Given the description of an element on the screen output the (x, y) to click on. 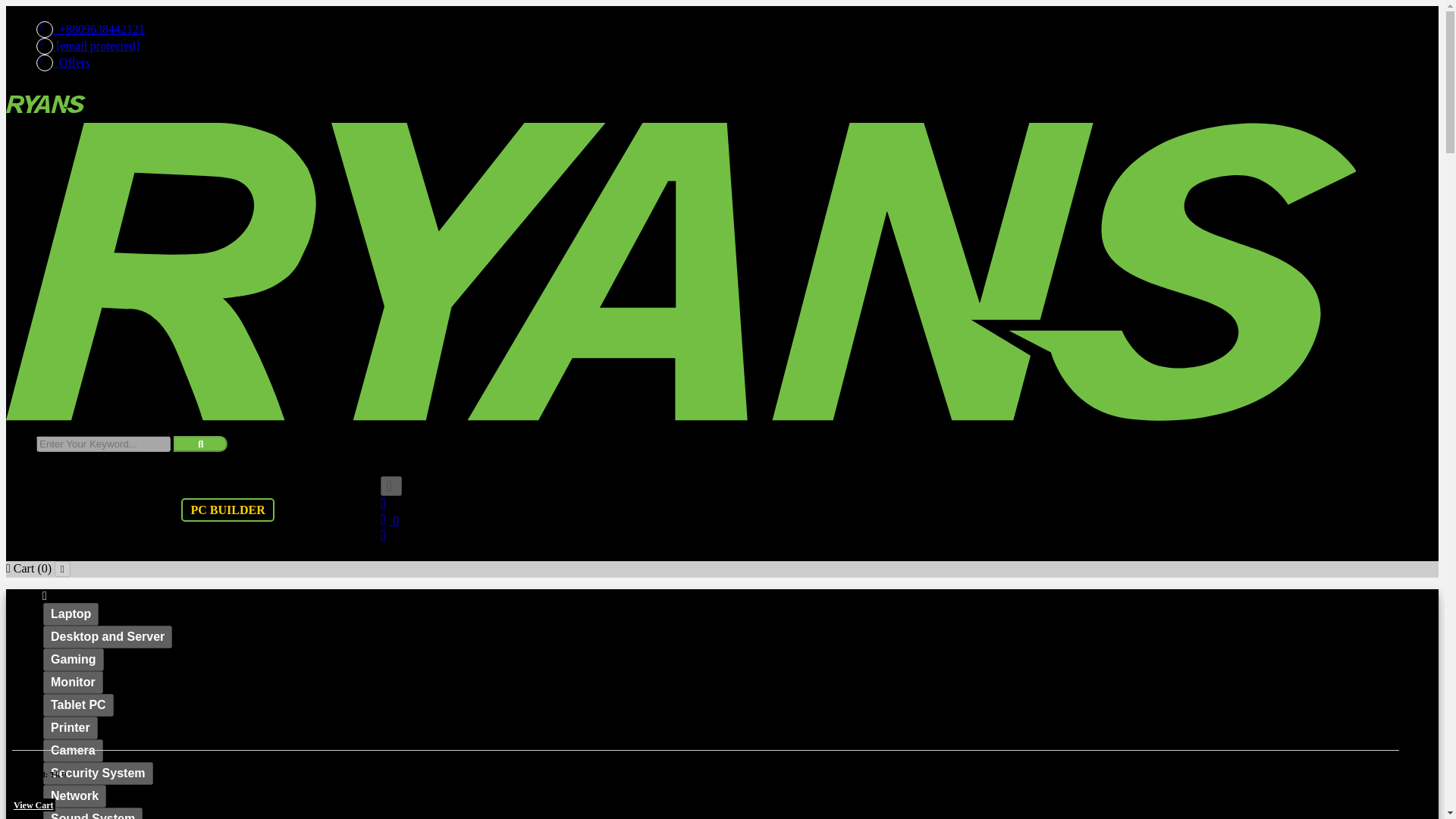
Compare (395, 519)
Laptop (71, 613)
Shopping Cart (395, 485)
View Cart (33, 805)
PC BUILDER (226, 509)
Favorite (395, 503)
0 (389, 520)
  Offers (695, 62)
